Given the description of an element on the screen output the (x, y) to click on. 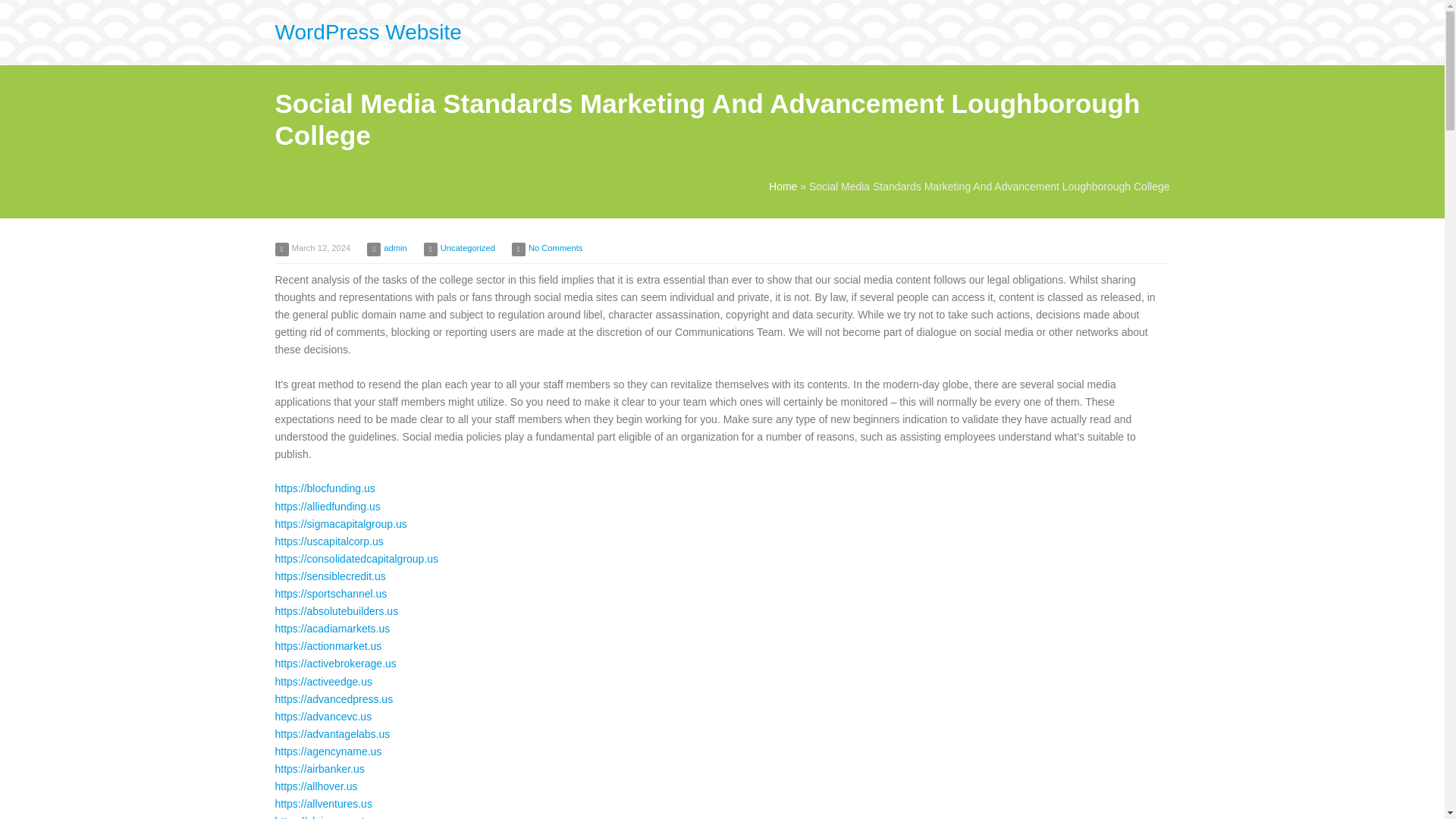
admin (395, 247)
No Comments (555, 247)
Uncategorized (468, 247)
View all posts by admin (395, 247)
WordPress Website (368, 32)
Home (782, 186)
